Given the description of an element on the screen output the (x, y) to click on. 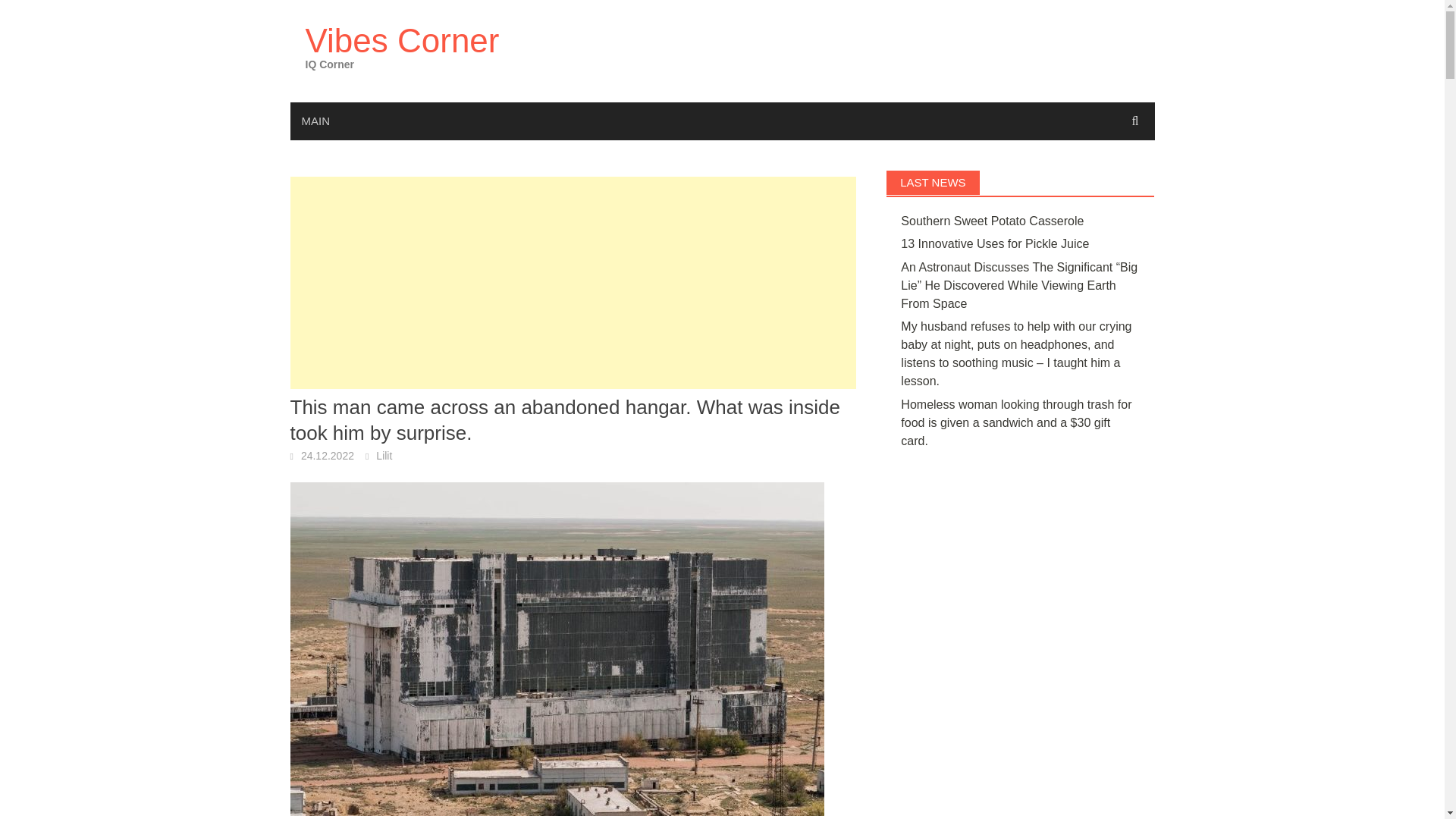
Advertisement (572, 282)
24.12.2022 (327, 455)
MAIN (314, 121)
Lilit (383, 455)
Southern Sweet Potato Casserole (992, 220)
Vibes Corner (401, 40)
13 Innovative Uses for Pickle Juice (995, 243)
